Given the description of an element on the screen output the (x, y) to click on. 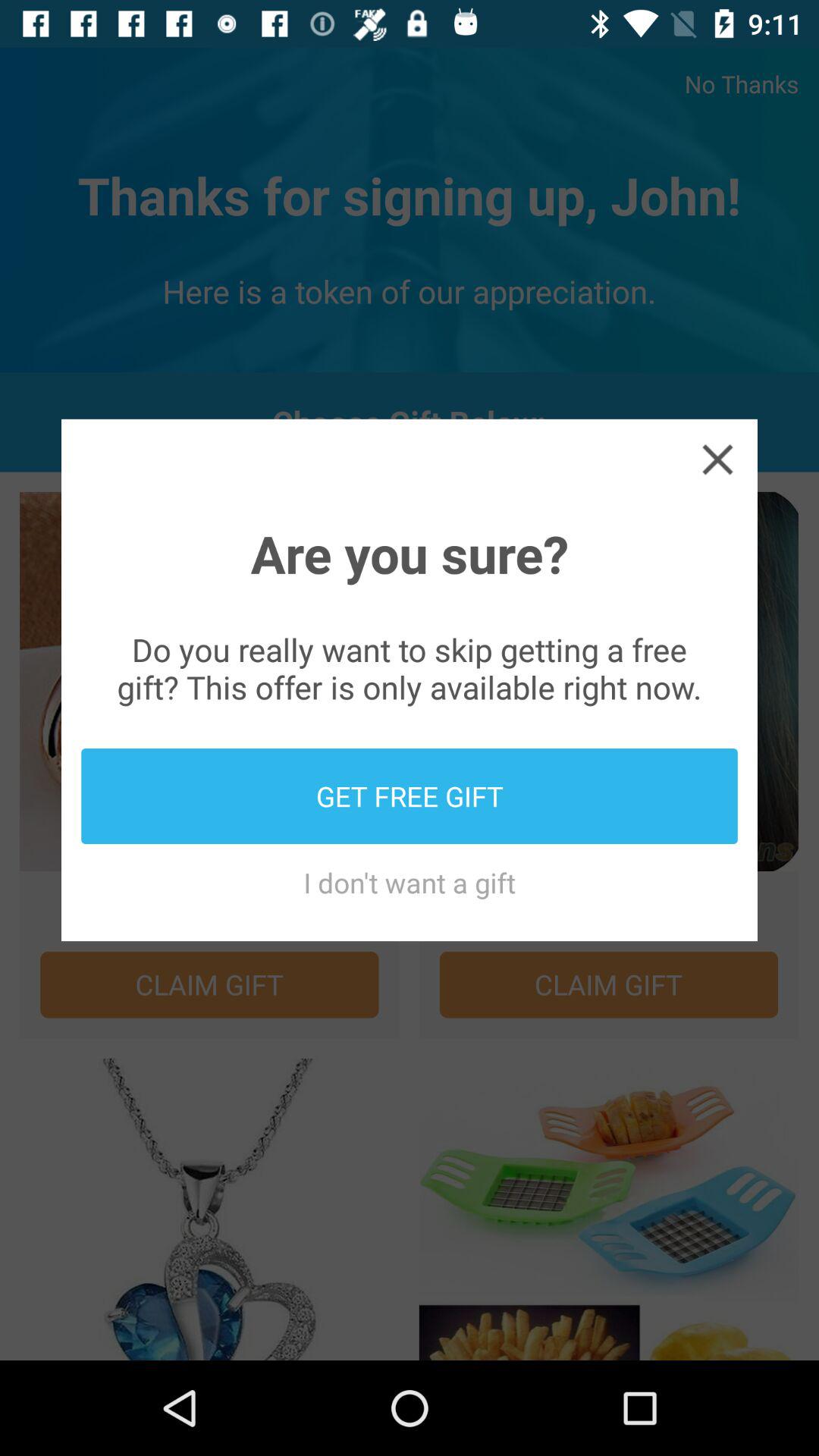
close dialogue box (717, 458)
